Given the description of an element on the screen output the (x, y) to click on. 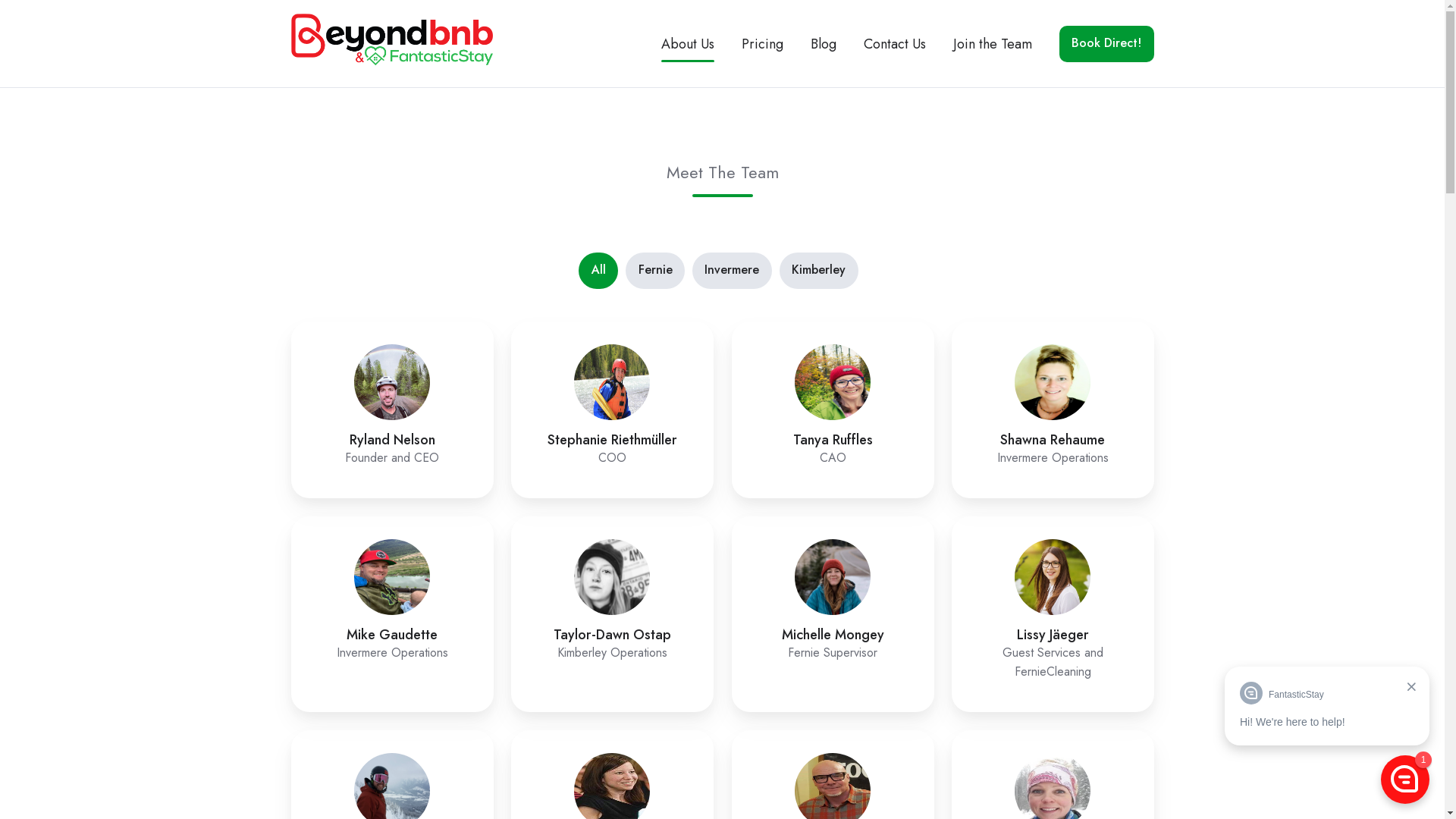
Invermere Element type: text (731, 270)
All Element type: text (598, 270)
Pricing Element type: text (762, 43)
Contact Us Element type: text (894, 43)
Fernie Element type: text (654, 270)
Blog Element type: text (823, 43)
Book Direct! Element type: text (1106, 43)
Beyondbnb Rental Management Experts Element type: hover (392, 43)
About Us Element type: text (687, 43)
Front Chat Element type: hover (1326, 737)
Kimberley Element type: text (818, 270)
Join the Team Element type: text (992, 43)
